Given the description of an element on the screen output the (x, y) to click on. 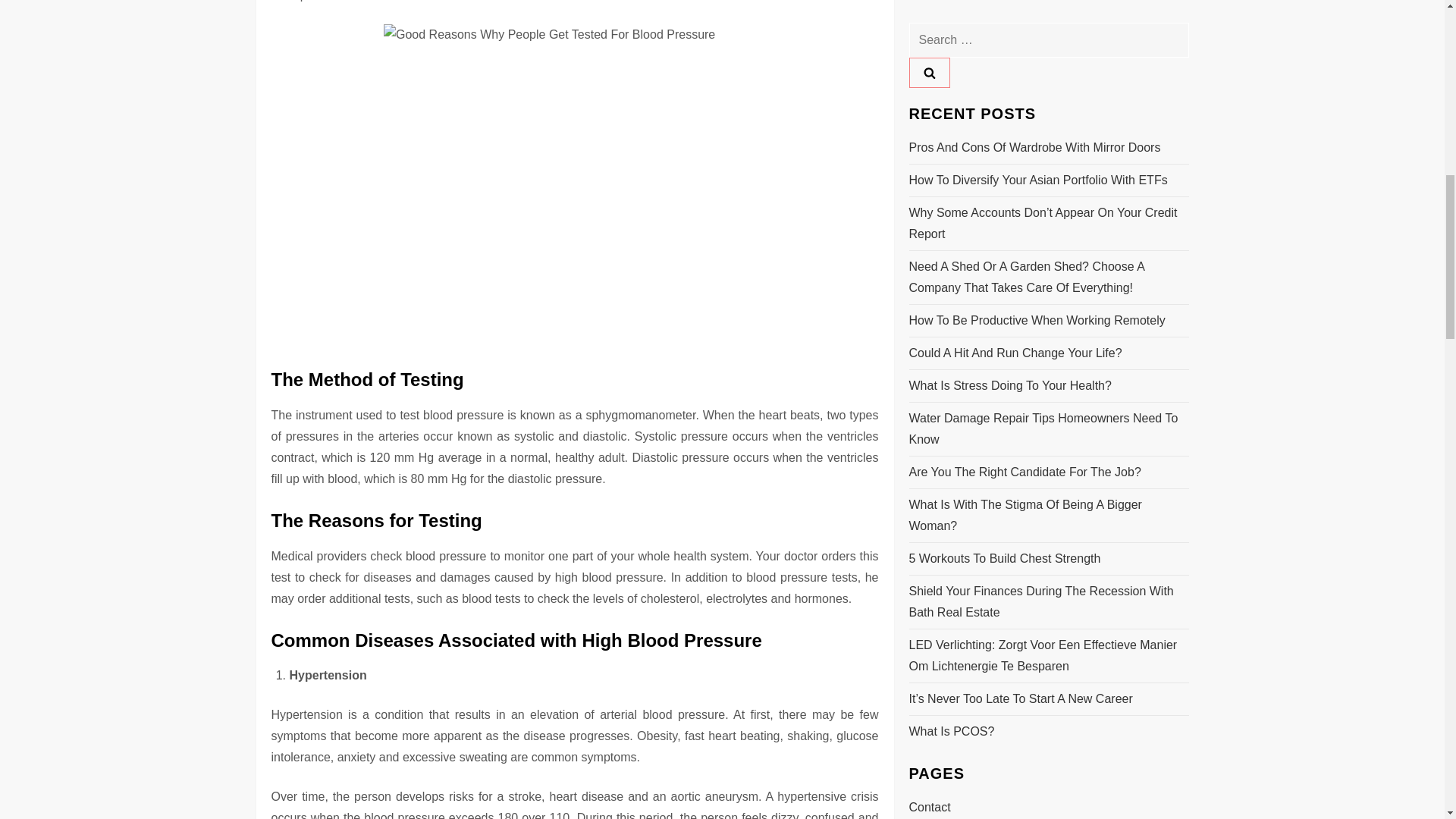
Contact (929, 135)
What Is PCOS? (951, 59)
